Given the description of an element on the screen output the (x, y) to click on. 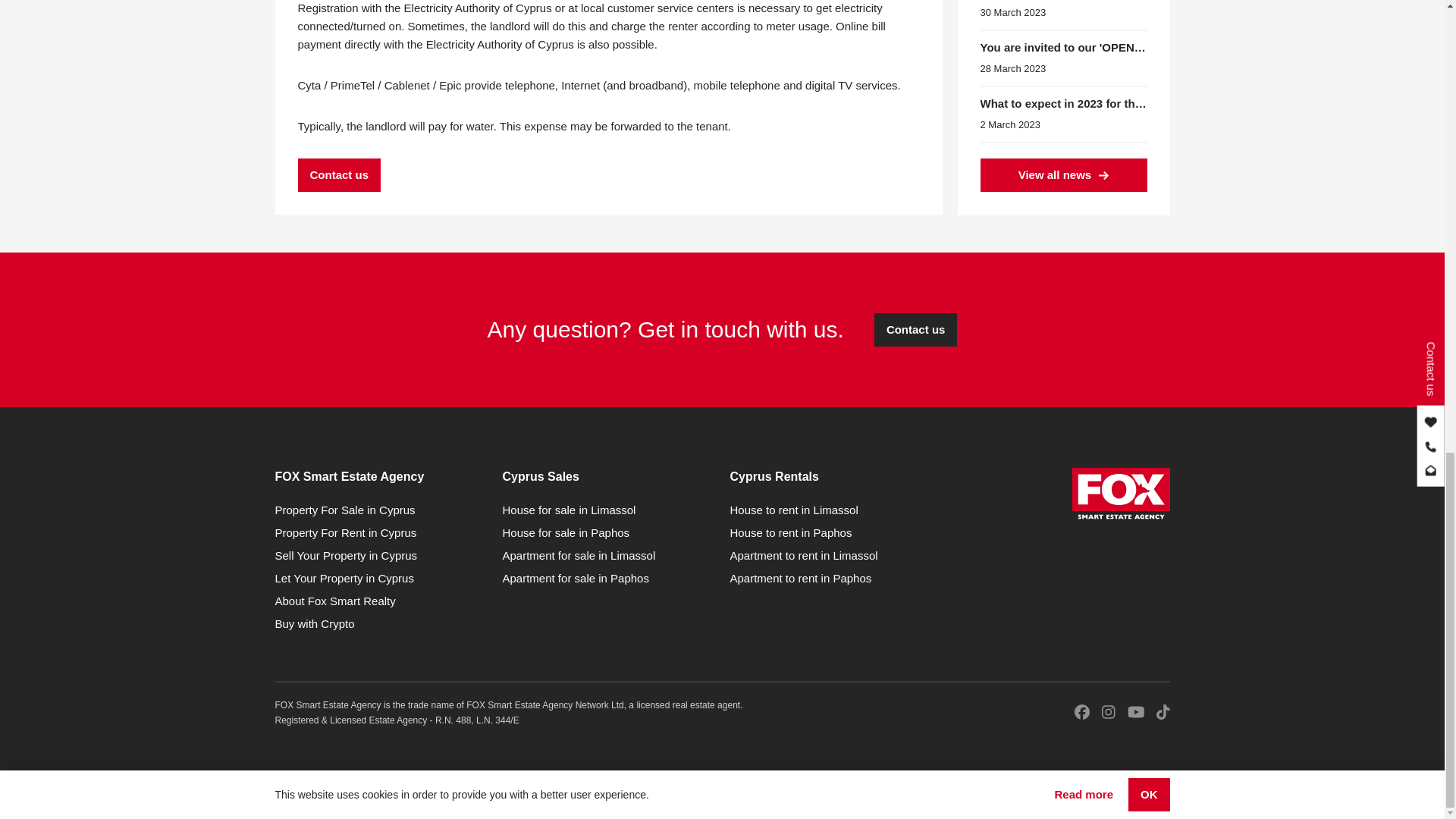
Contact us (338, 174)
